Given the description of an element on the screen output the (x, y) to click on. 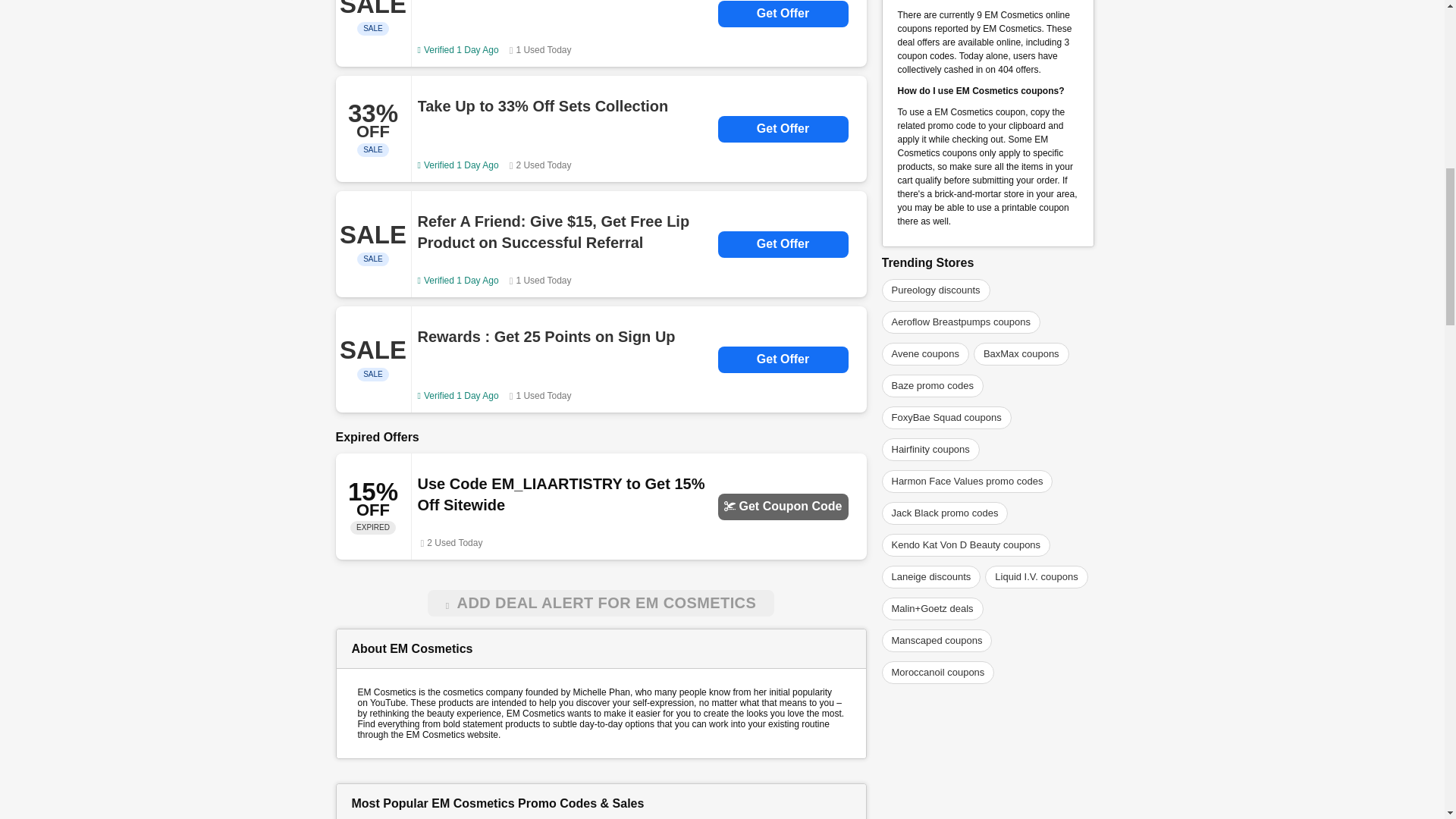
ADD DEAL ALERT FOR EM COSMETICS (601, 602)
